Given the description of an element on the screen output the (x, y) to click on. 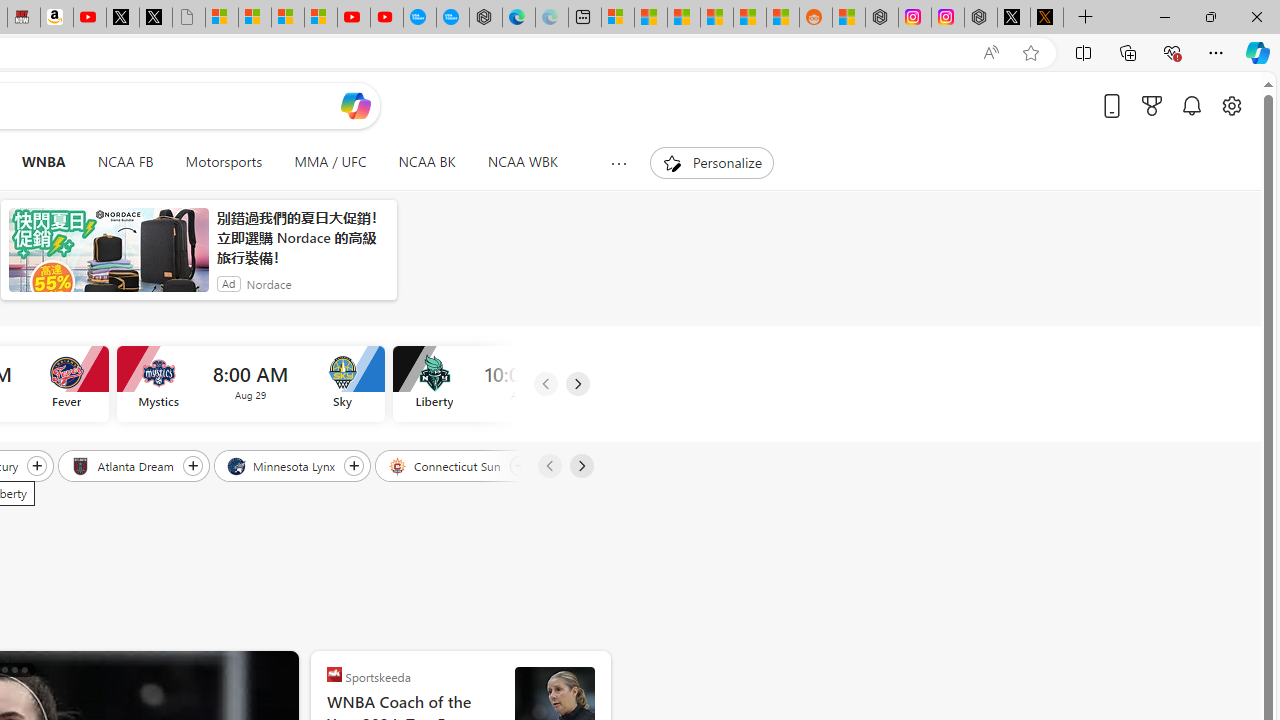
Minnesota Lynx (281, 465)
Untitled (188, 17)
WNBA (43, 162)
Ad (228, 283)
Shanghai, China Weather trends | Microsoft Weather (782, 17)
Shanghai, China hourly forecast | Microsoft Weather (684, 17)
Nordace - Nordace has arrived Hong Kong (485, 17)
Show more topics (617, 163)
Shanghai, China weather forecast | Microsoft Weather (650, 17)
